Given the description of an element on the screen output the (x, y) to click on. 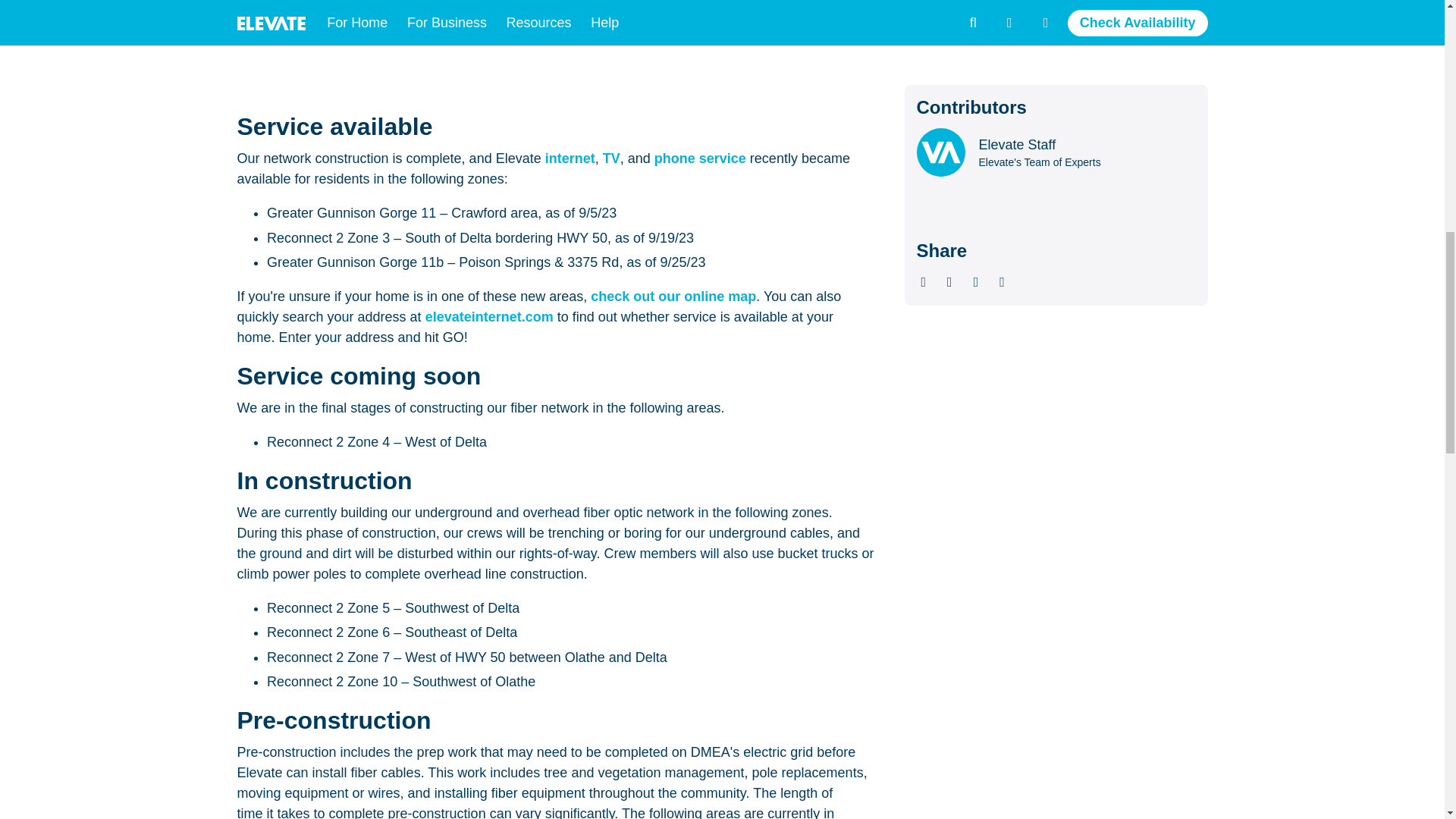
internet (569, 158)
TV (611, 158)
